Given the description of an element on the screen output the (x, y) to click on. 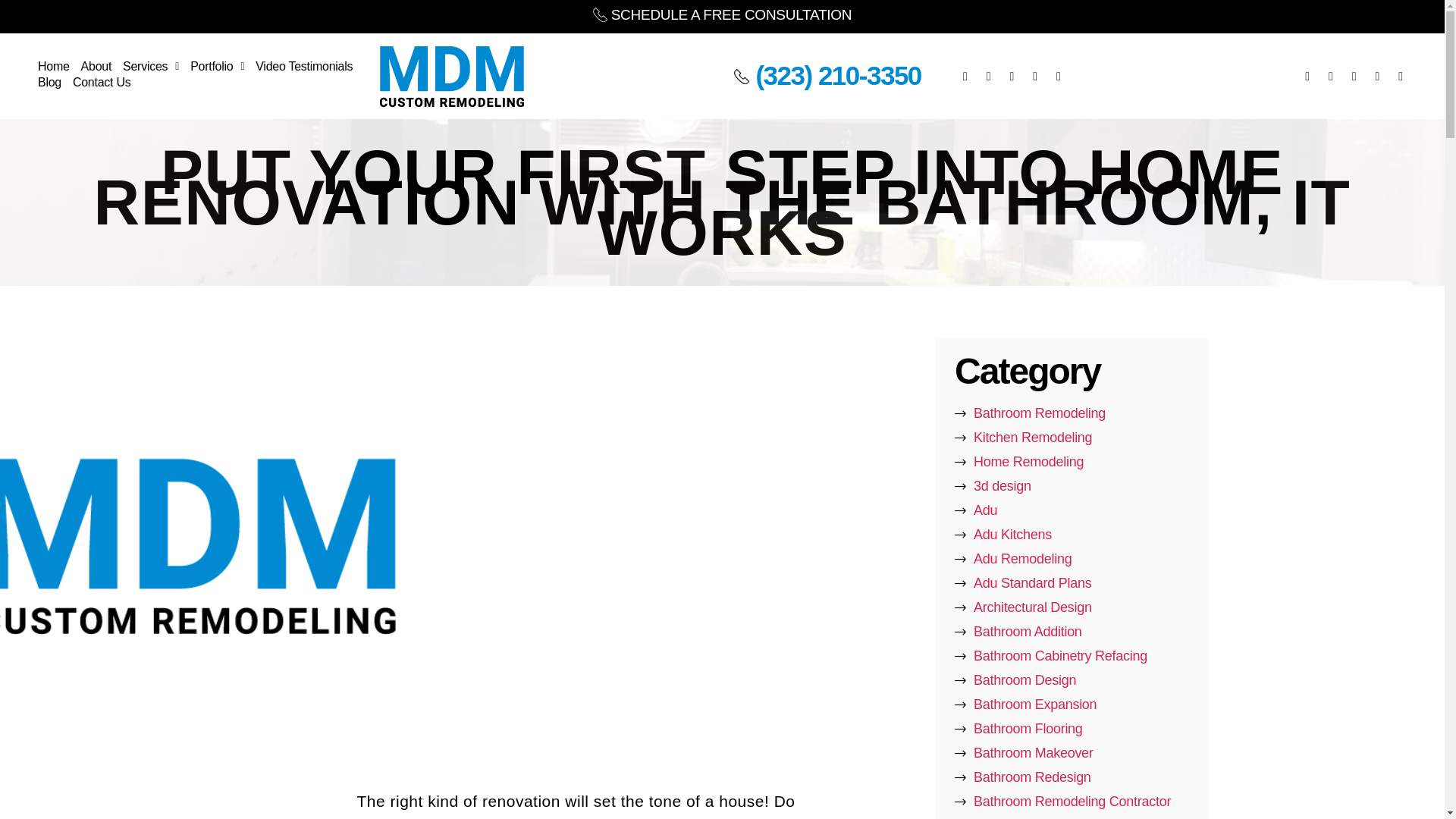
Services (150, 68)
SCHEDULE A FREE CONSULTATION (721, 14)
Home (53, 68)
Portfolio (217, 68)
About (96, 68)
